Given the description of an element on the screen output the (x, y) to click on. 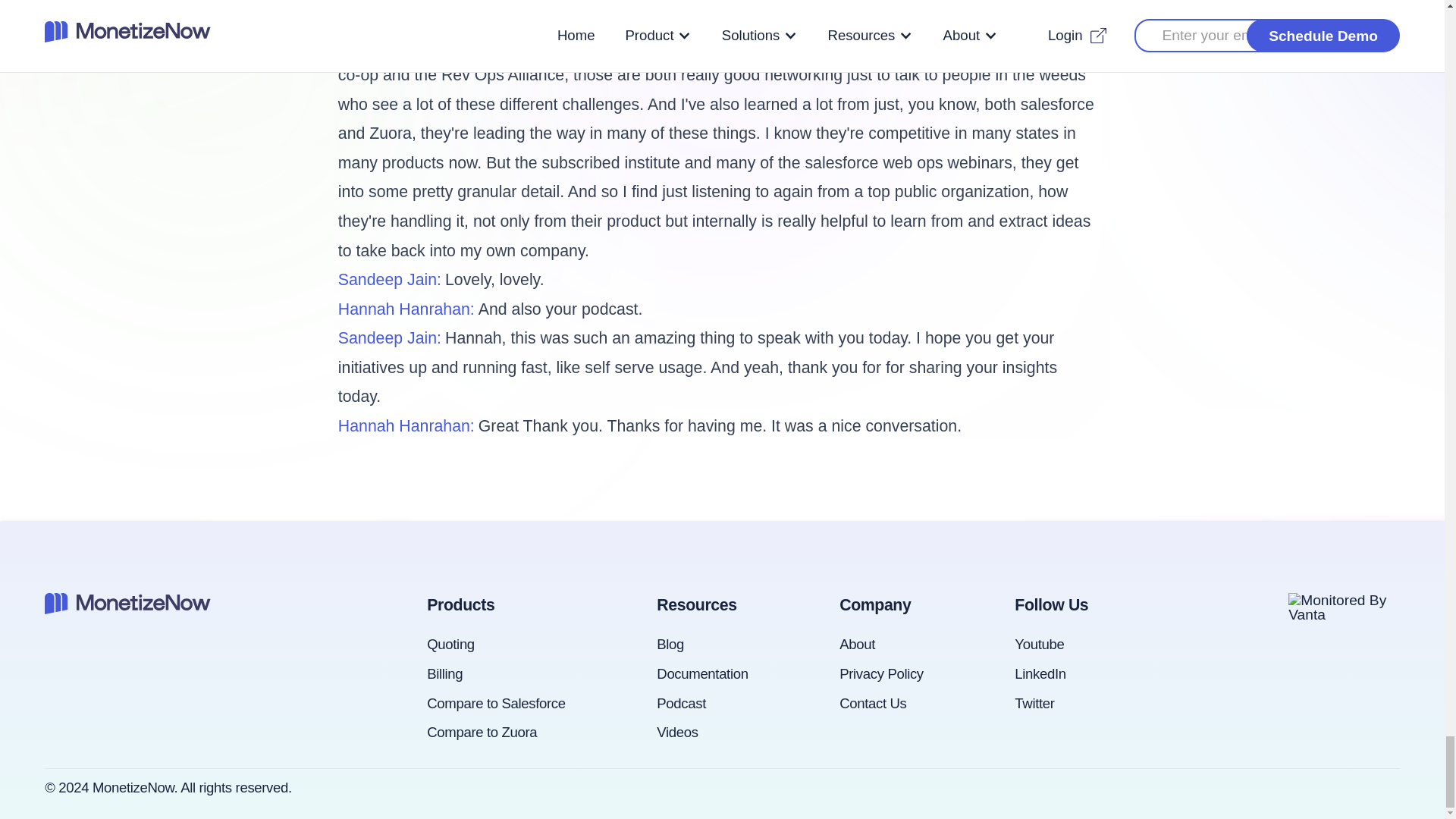
Podcast (681, 703)
Blog (670, 643)
Quoting (450, 643)
LinkedIn (1039, 673)
Billing (444, 673)
Compare to Zuora (481, 731)
Documentation (702, 673)
Privacy Policy (881, 673)
Twitter (1034, 703)
About (857, 643)
